Given the description of an element on the screen output the (x, y) to click on. 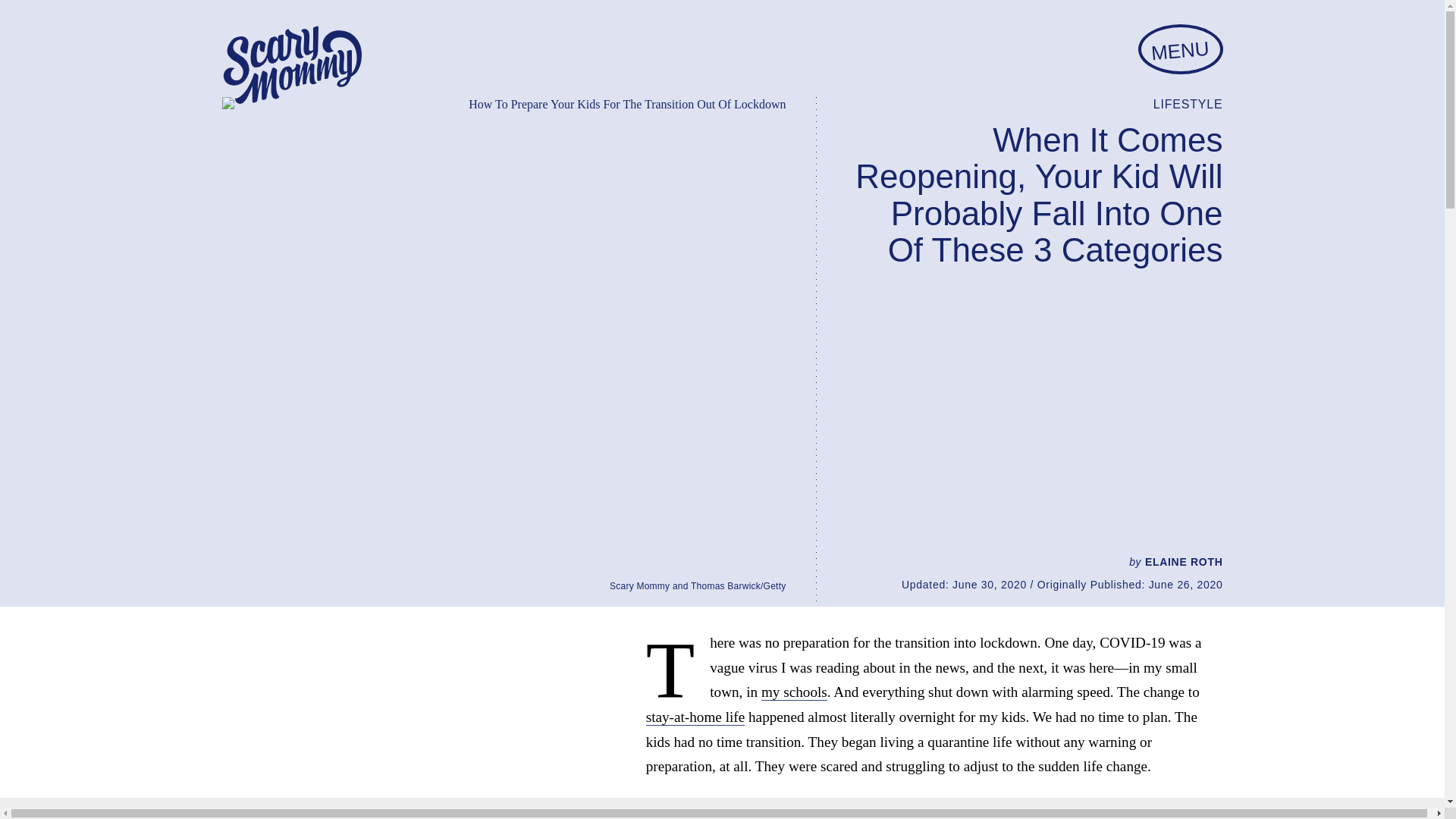
Scary Mommy (291, 64)
stay-at-home life (695, 717)
my schools (794, 692)
